Given the description of an element on the screen output the (x, y) to click on. 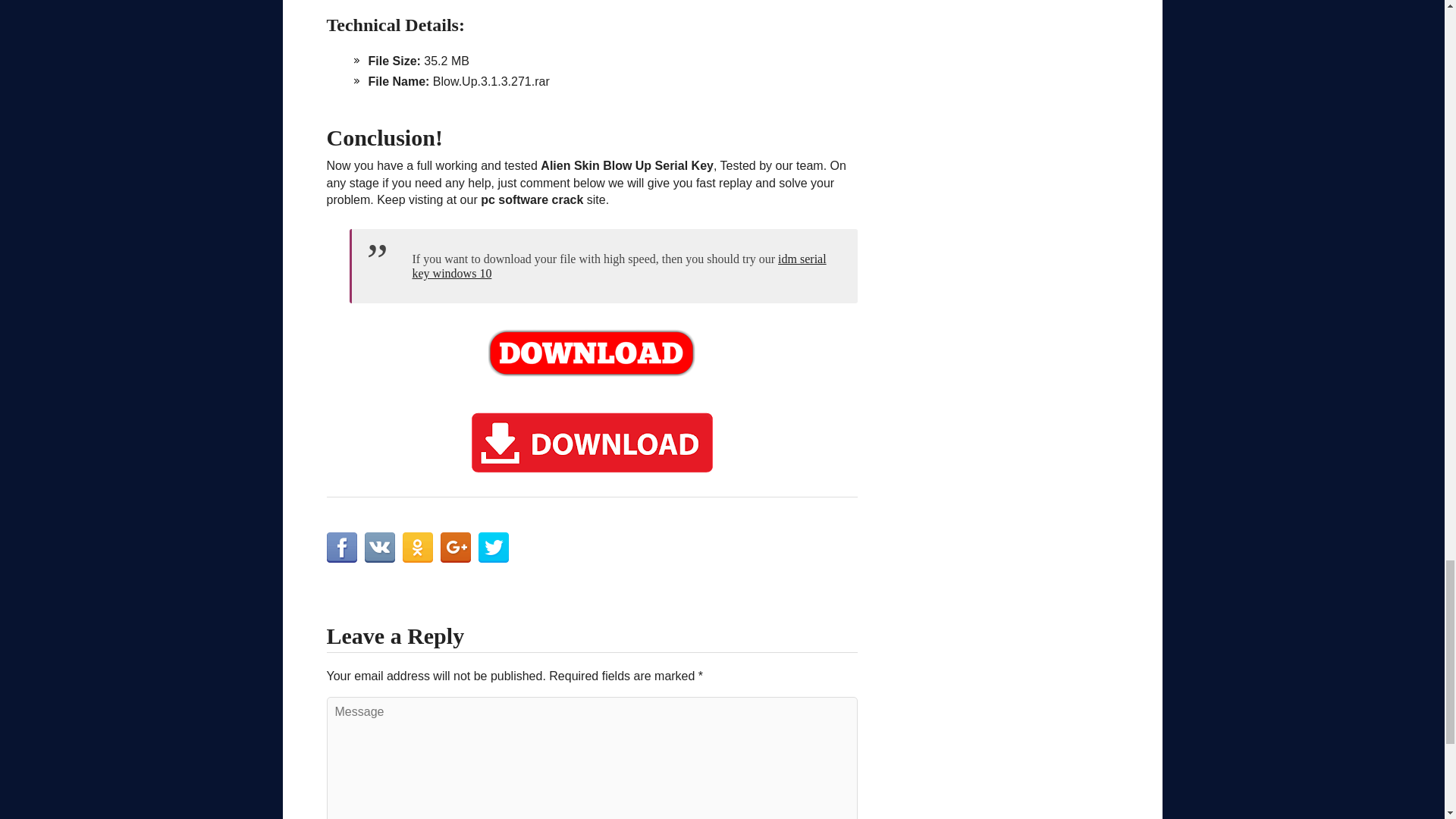
Share in Facebook (341, 547)
idm serial key windows 10 (619, 266)
Share in Twitter (492, 547)
Share in OK (416, 547)
Share in VK (379, 547)
